Given the description of an element on the screen output the (x, y) to click on. 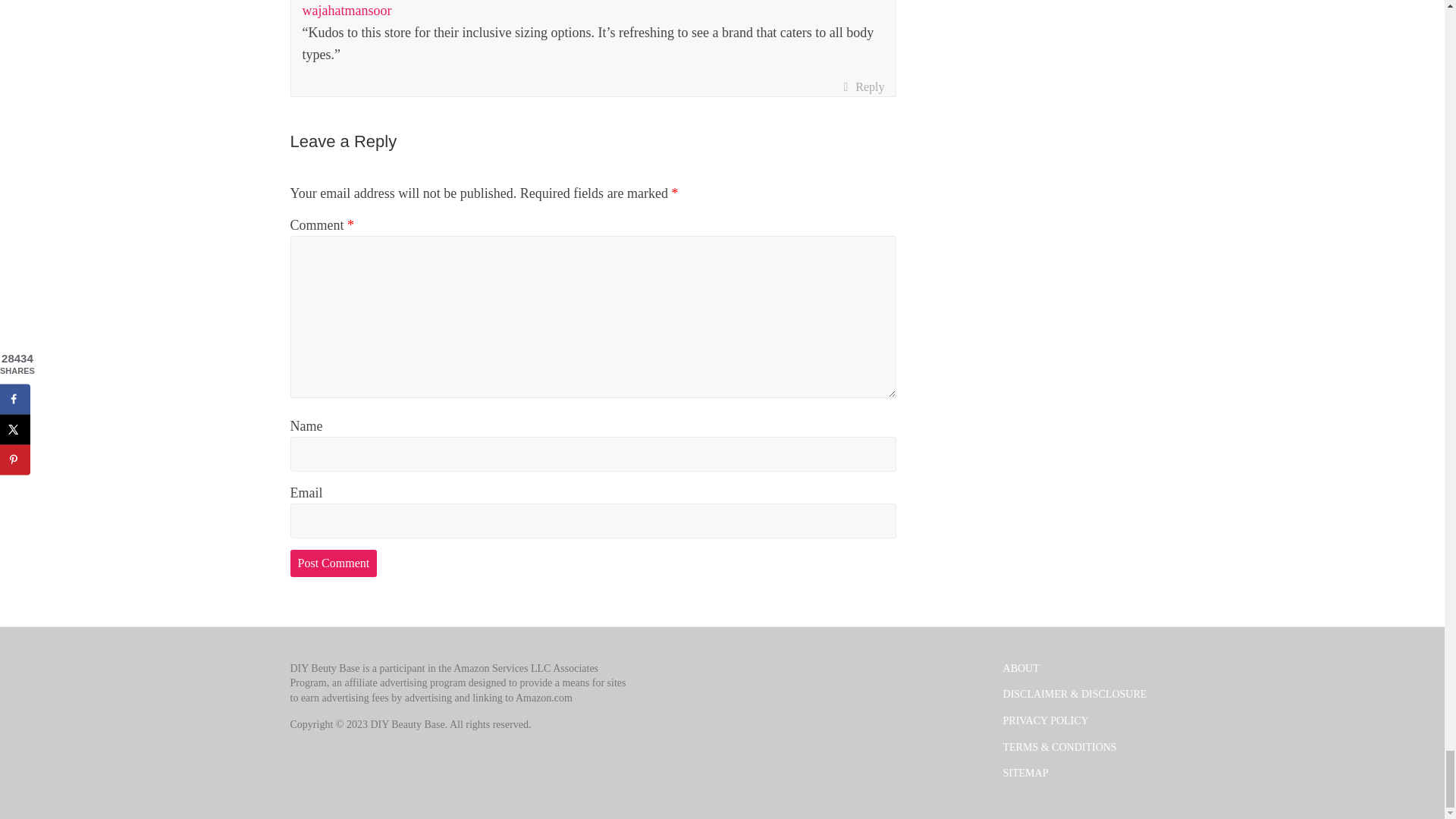
Post Comment (333, 563)
